Given the description of an element on the screen output the (x, y) to click on. 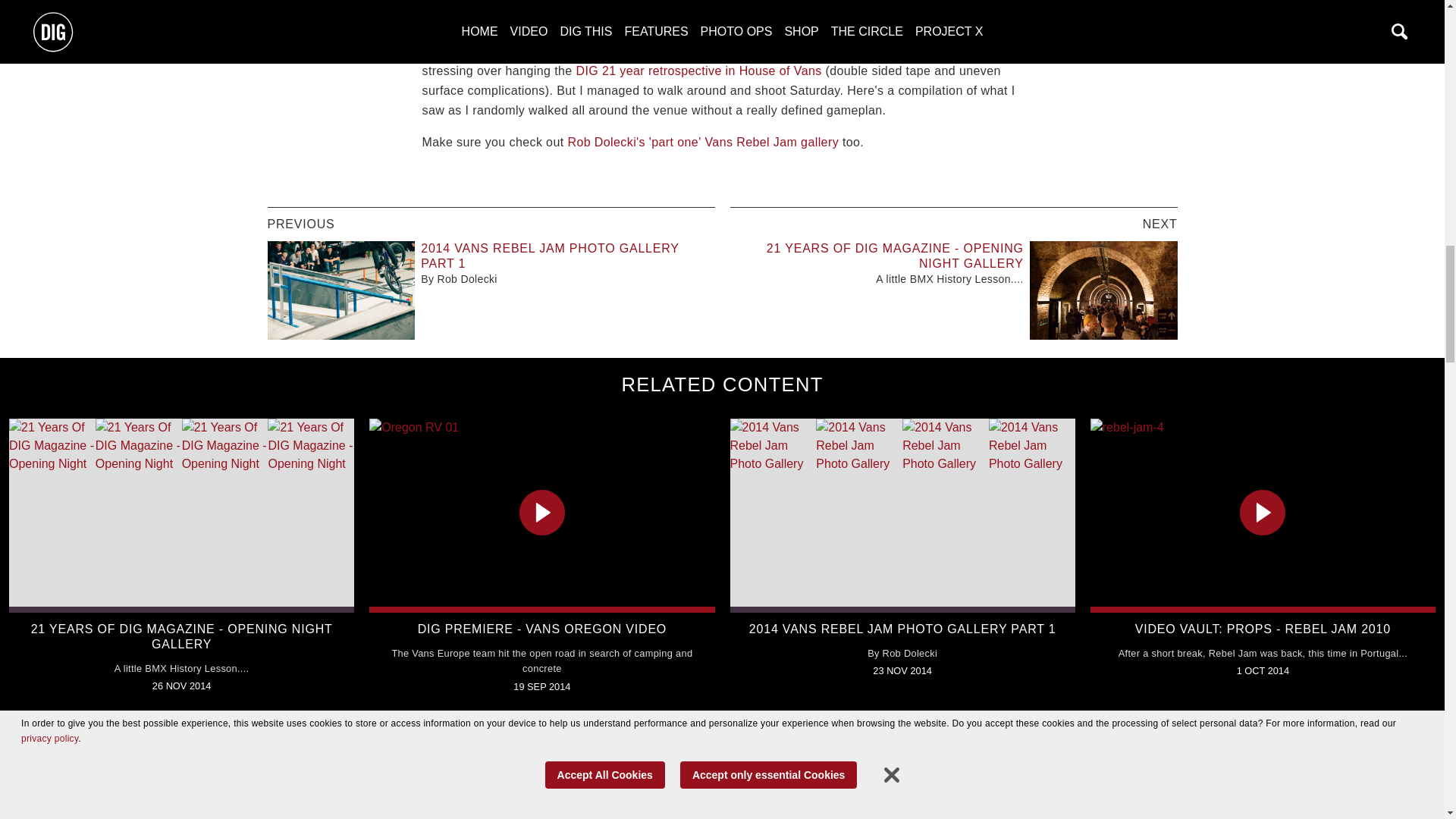
DIG PREMIERE - VANS OREGON VIDEO (541, 628)
DIG 21 year retrospective in House of Vans (698, 70)
2014 VANS REBEL JAM PHOTO GALLERY PART 1 (549, 255)
Rob Dolecki's 'part one' Vans Rebel Jam gallery (702, 141)
21 YEARS OF DIG MAGAZINE - OPENING NIGHT GALLERY (181, 636)
21 YEARS OF DIG MAGAZINE - OPENING NIGHT GALLERY (895, 255)
